Given the description of an element on the screen output the (x, y) to click on. 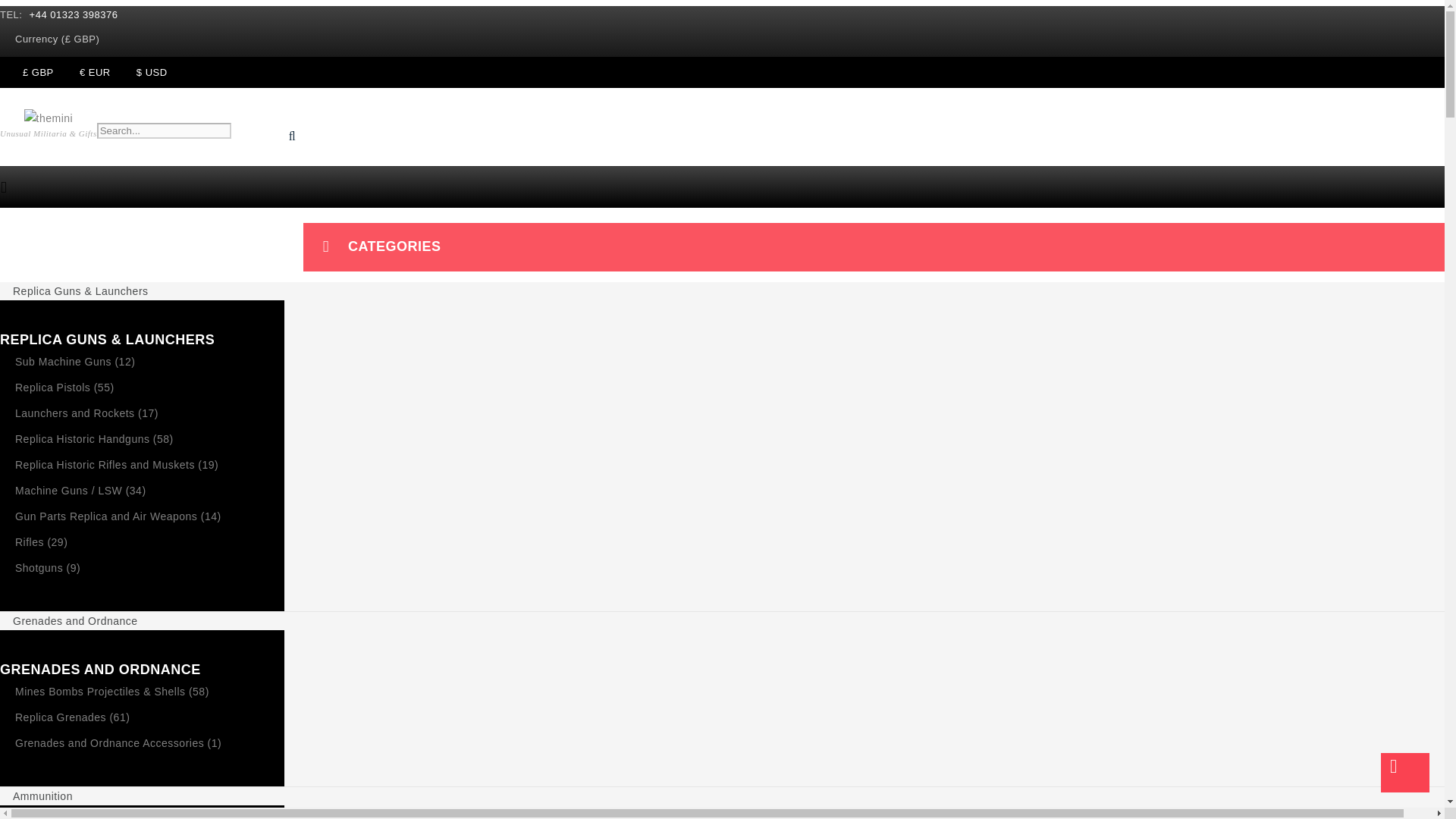
HOME (30, 227)
ABOUT US (102, 227)
SHOP (173, 227)
CONTACT US (252, 227)
Ammunition (42, 795)
About us (102, 227)
Grenades and Ordnance (75, 620)
